Given the description of an element on the screen output the (x, y) to click on. 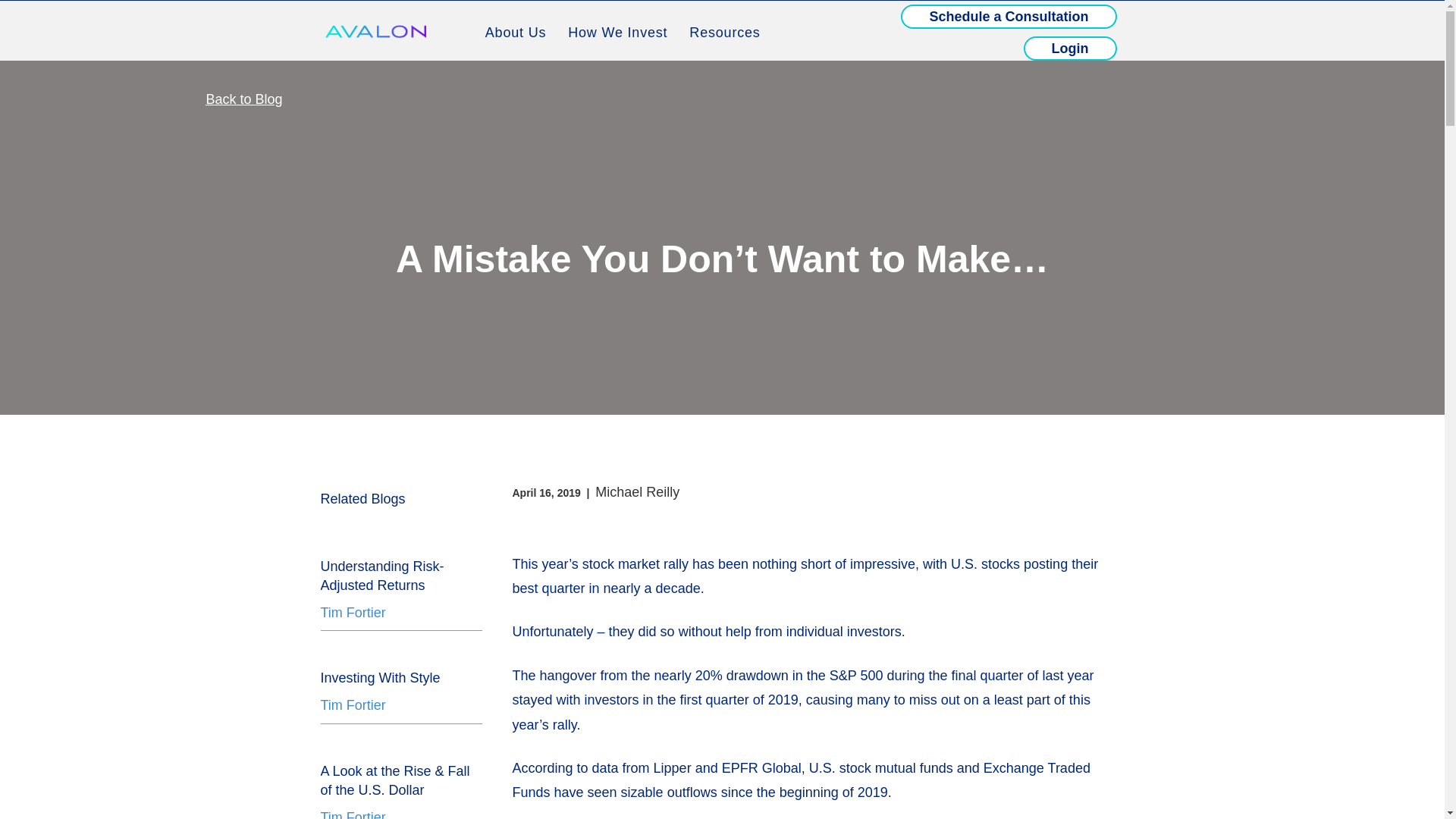
Understanding Risk-Adjusted Returns (382, 575)
Investing With Style (379, 677)
About Us (515, 32)
Investing With Style (379, 677)
Tim Fortier (352, 814)
Back to Blog (244, 99)
Resources (724, 32)
Login (1069, 48)
Understanding Risk-Adjusted Returns (382, 575)
How We Invest (617, 32)
Schedule a Consultation (1008, 16)
Michael Reilly (637, 491)
Tim Fortier (352, 612)
Tim Fortier (352, 704)
